Given the description of an element on the screen output the (x, y) to click on. 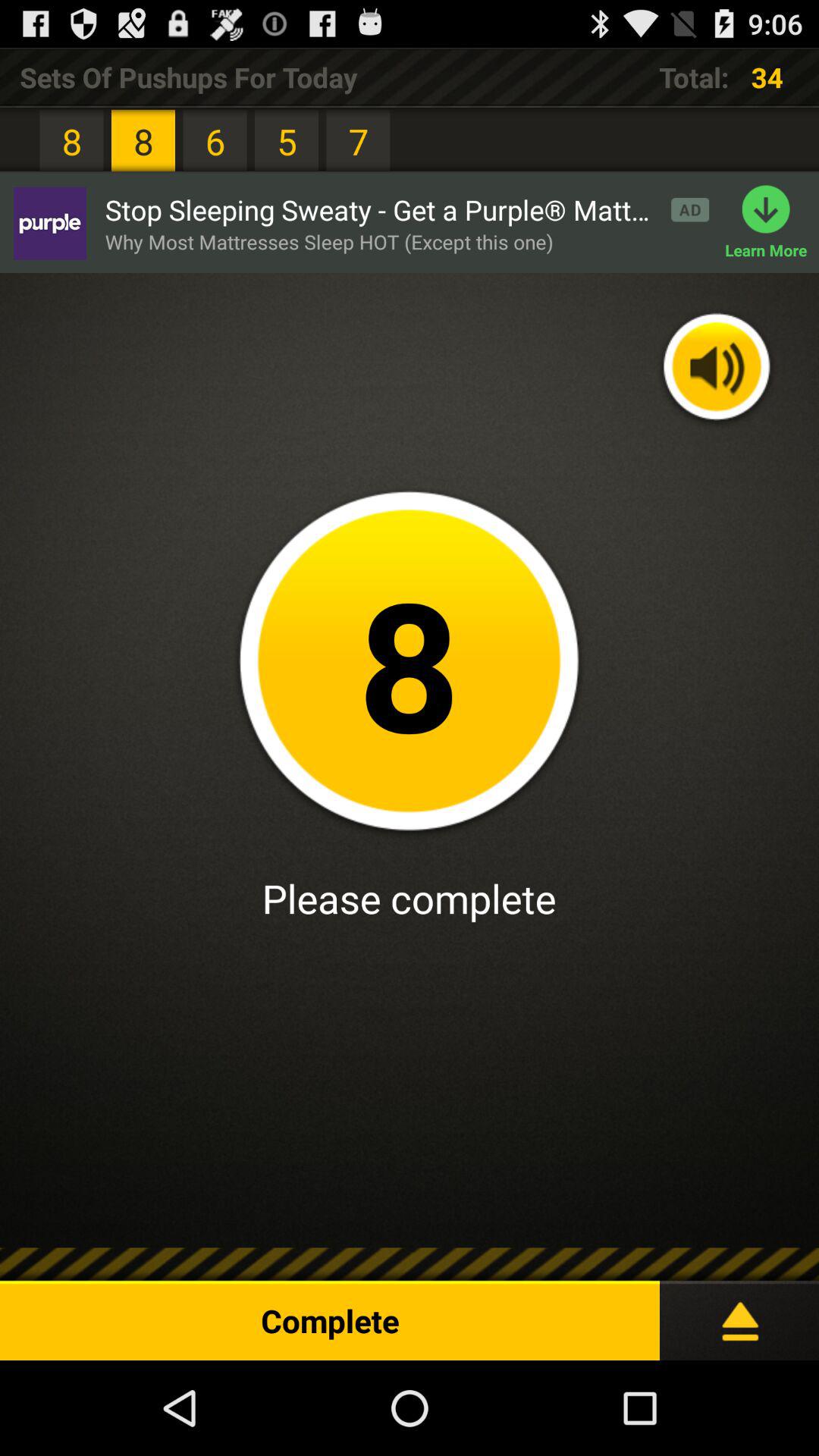
press why most mattresses icon (329, 241)
